Given the description of an element on the screen output the (x, y) to click on. 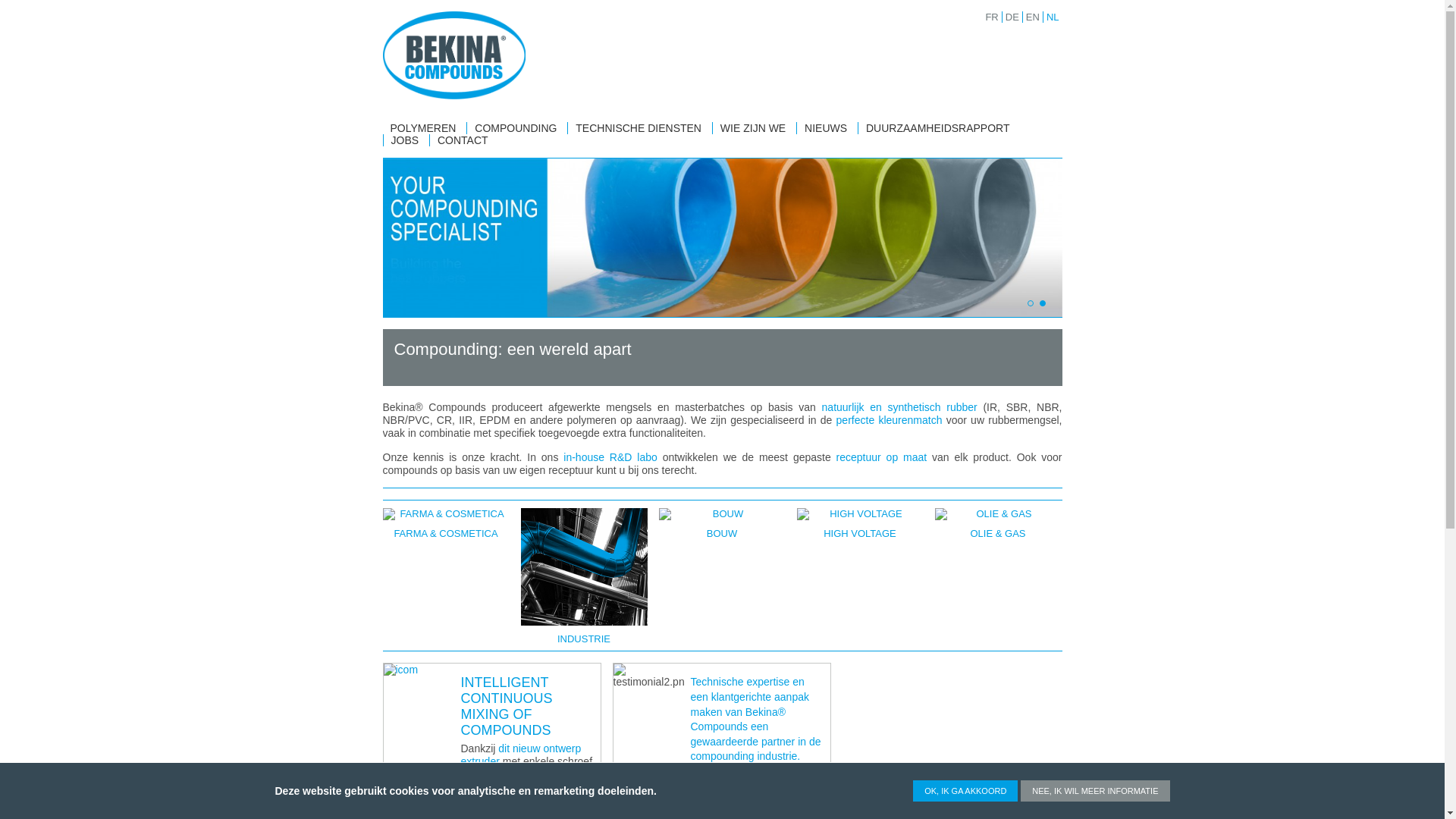
POLYMEREN Element type: text (422, 128)
INDUSTRIE Element type: text (578, 575)
dit nieuw ontwerp extruder Element type: text (521, 754)
CONTACT Element type: text (462, 140)
natuurlijk en synthetisch rubber Element type: text (902, 407)
receptuur op maat Element type: text (883, 457)
WIE ZIJN WE Element type: text (752, 128)
COMPOUNDING Element type: text (515, 128)
in-house R&D labo Element type: text (609, 457)
HIGH VOLTAGE Element type: text (854, 575)
NEE, IK WIL MEER INFORMATIE Element type: text (1094, 790)
JOBS Element type: text (404, 140)
OLIE & GAS Element type: text (992, 575)
NL Element type: text (1051, 16)
NIEUWS Element type: text (825, 128)
OK, IK GA AKKOORD Element type: text (965, 790)
BOUW Element type: text (716, 575)
DE Element type: text (1010, 16)
DUURZAAMHEIDSRAPPORT Element type: text (937, 128)
1 Element type: text (1030, 303)
FR Element type: text (989, 16)
EN Element type: text (1030, 16)
2 Element type: text (1042, 303)
FARMA & COSMETICA Element type: text (440, 575)
Bekina Compounds Element type: hover (453, 55)
TECHNISCHE DIENSTEN Element type: text (638, 128)
perfecte kleurenmatch Element type: text (891, 420)
